Given the description of an element on the screen output the (x, y) to click on. 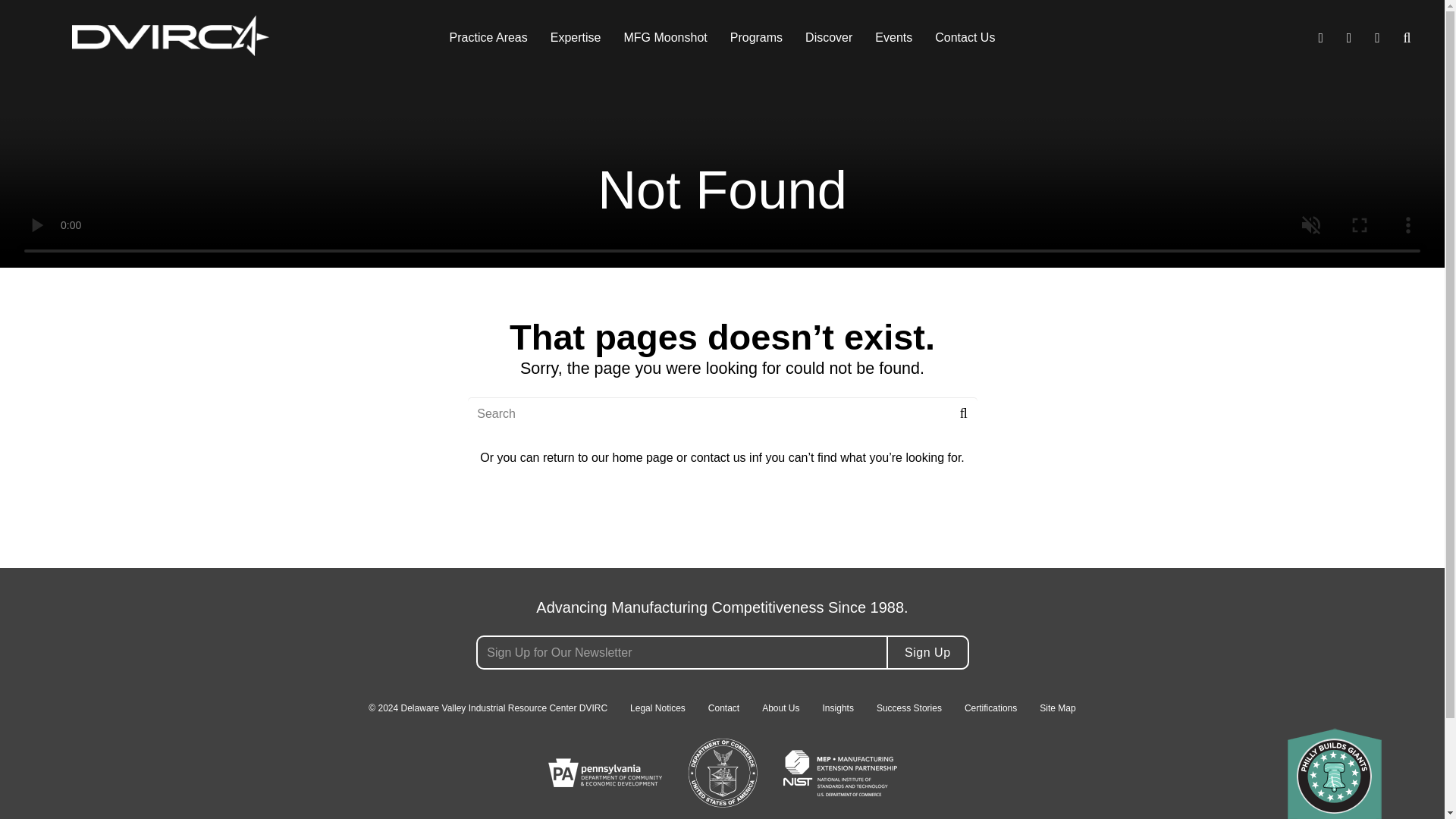
LinkedIn (13, 541)
Facebook (41, 541)
Sign Up (927, 652)
X (68, 541)
Practice Areas (488, 38)
Copy Link (95, 541)
